Given the description of an element on the screen output the (x, y) to click on. 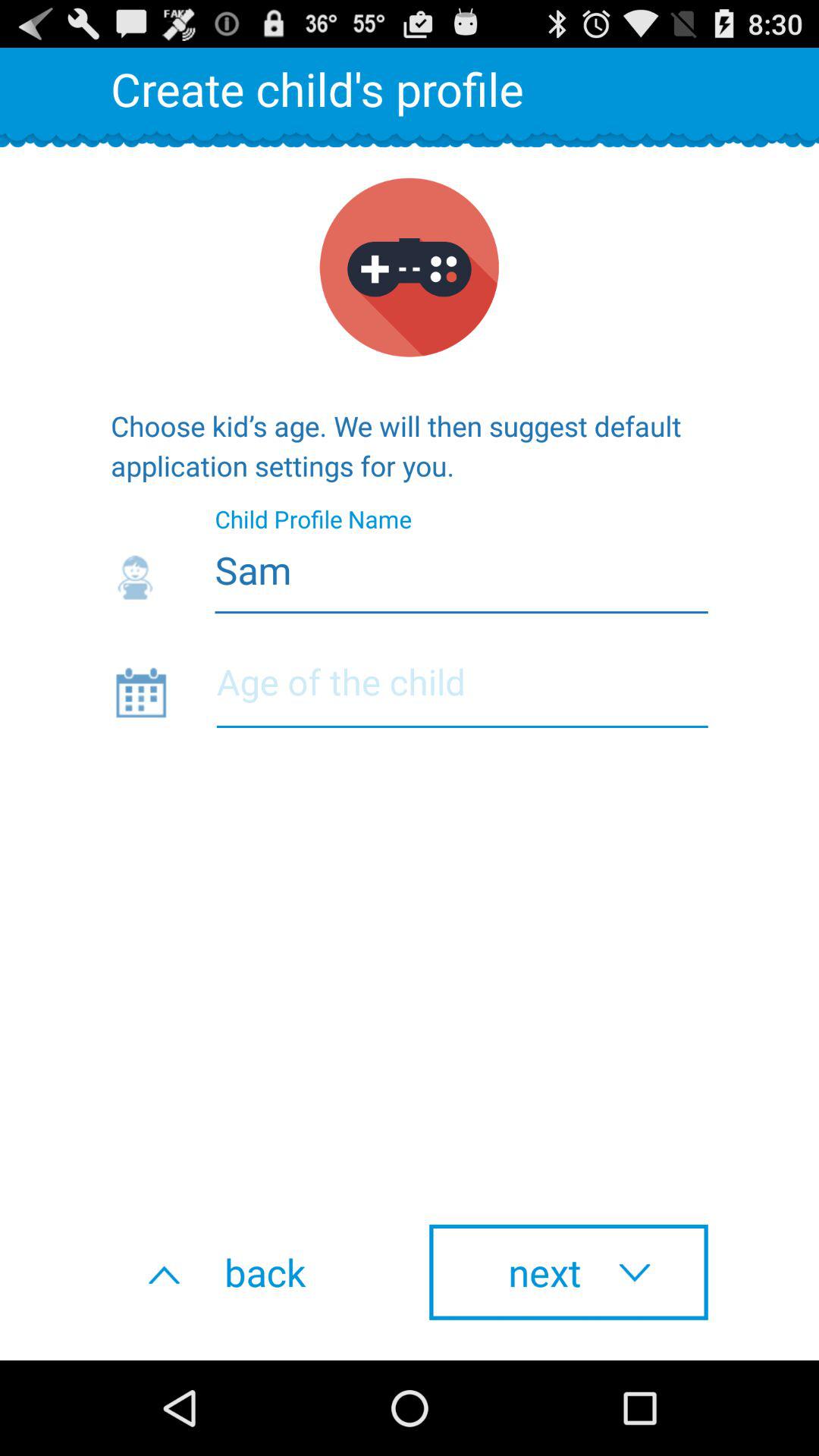
choose the item below the sam icon (462, 691)
